Given the description of an element on the screen output the (x, y) to click on. 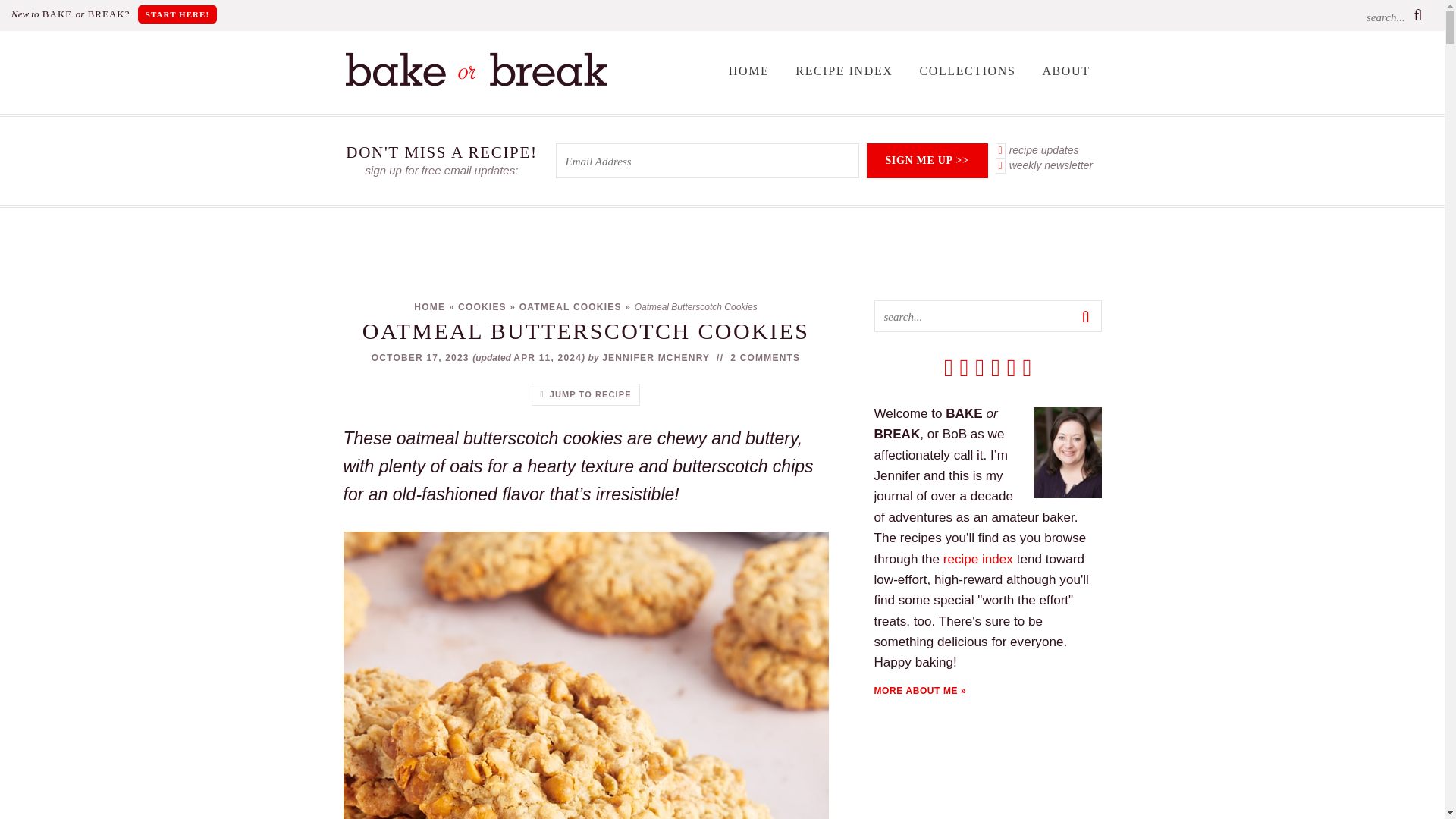
HOME (748, 70)
START HERE! (177, 13)
COLLECTIONS (966, 70)
Bake or Break (475, 82)
ABOUT (1065, 70)
RECIPE INDEX (844, 70)
JENNIFER MCHENRY (656, 357)
2 COMMENTS (764, 357)
HOME (429, 307)
OATMEAL COOKIES (570, 307)
COOKIES (482, 307)
JUMP TO RECIPE (585, 395)
